Given the description of an element on the screen output the (x, y) to click on. 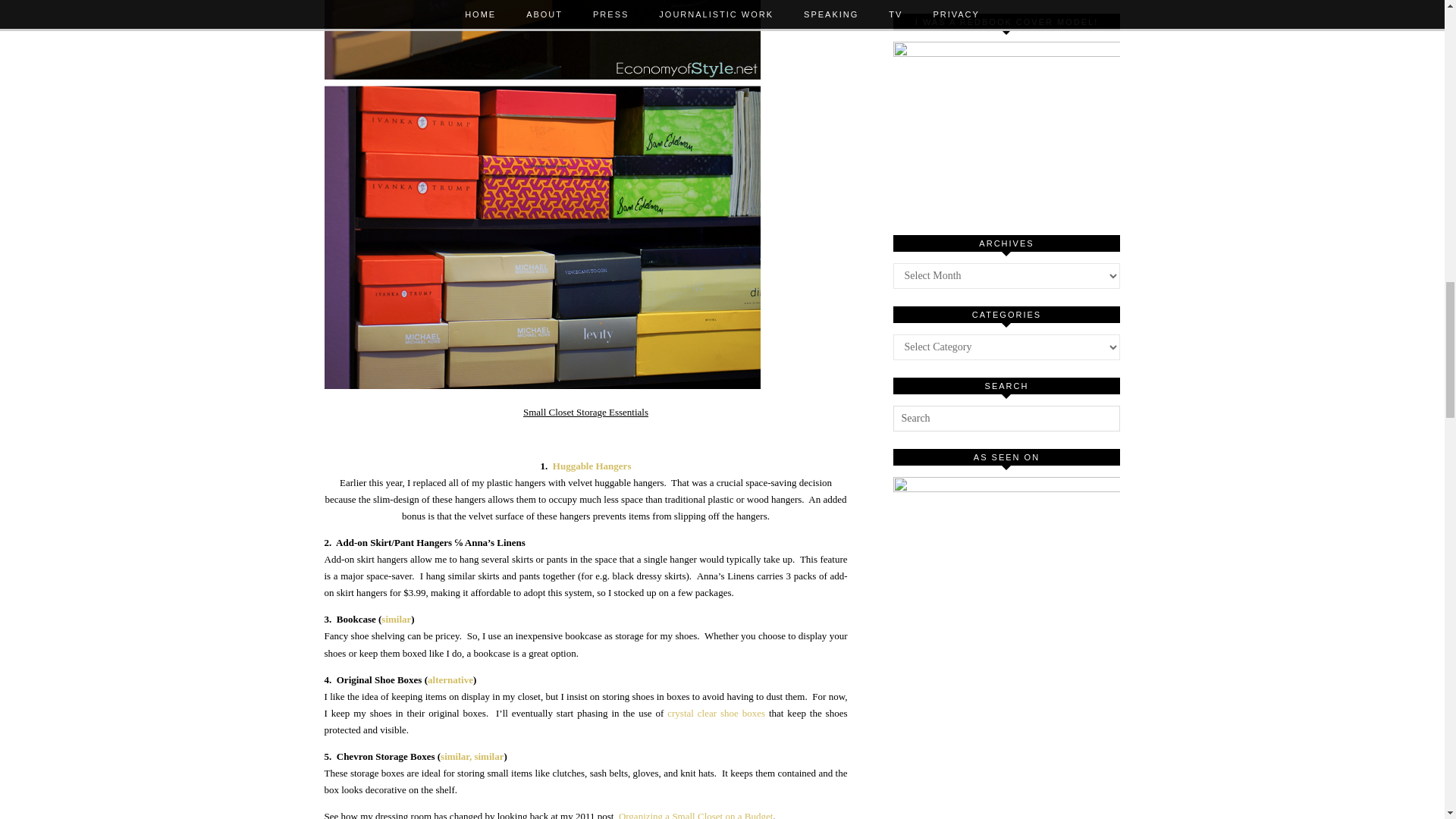
similar (395, 618)
Huggable Hangers (592, 465)
alternative (450, 679)
similar (488, 756)
Organizing a Small Closet on a Budget (695, 814)
crystal clear shoe boxes (715, 713)
similar, (456, 756)
